Given the description of an element on the screen output the (x, y) to click on. 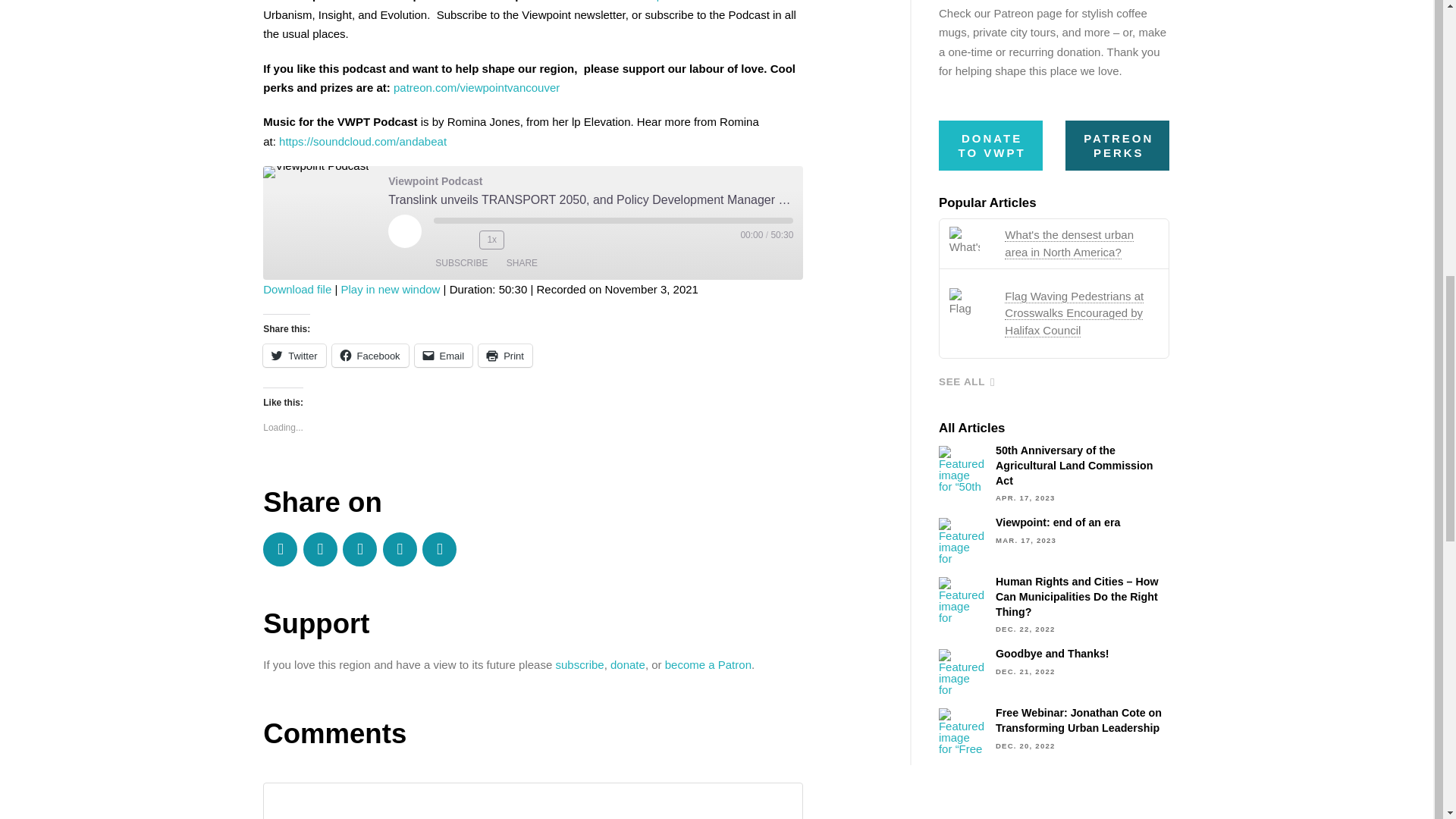
Play (405, 231)
Rewind 10 Seconds (464, 240)
Fast Forward 30 seconds (519, 240)
SUBSCRIBE (461, 262)
Play in new window (390, 288)
Fast Forward 30 seconds (519, 240)
Share (521, 262)
SHARE (521, 262)
1x (491, 239)
Viewpoint Podcast (315, 172)
Facebook (370, 354)
Playback Speed (491, 239)
Seek (613, 220)
Rewind 10 seconds (464, 240)
Download file (297, 288)
